Given the description of an element on the screen output the (x, y) to click on. 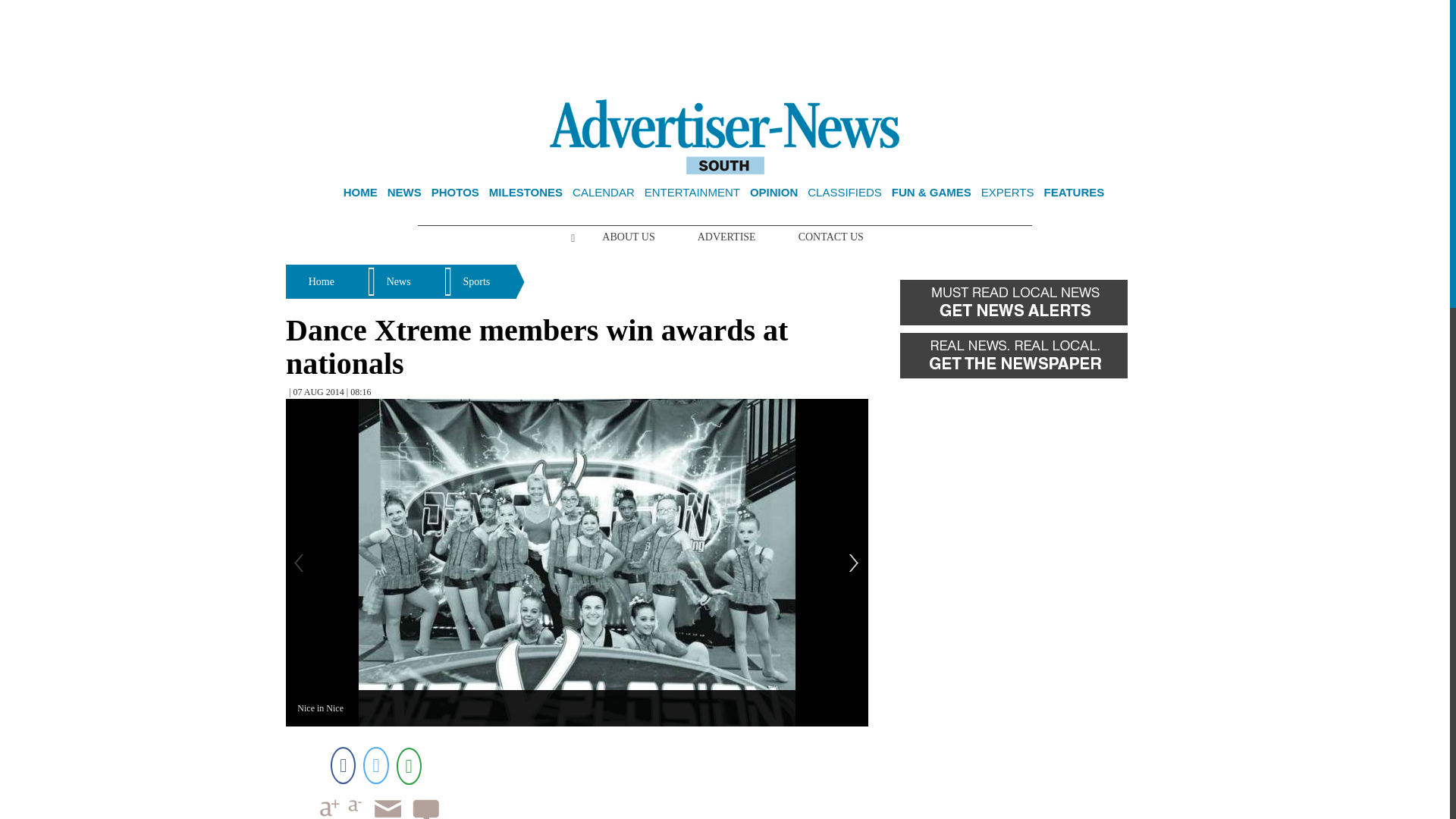
OPINION (773, 192)
ENTERTAINMENT (692, 192)
PHOTOS (454, 192)
FEATURES (1074, 192)
CALENDAR (603, 192)
MILESTONES (525, 192)
EXPERTS (1007, 192)
CLASSIFIEDS (845, 192)
3rd party ad content (724, 49)
HOME (360, 192)
NEWS (404, 192)
